Given the description of an element on the screen output the (x, y) to click on. 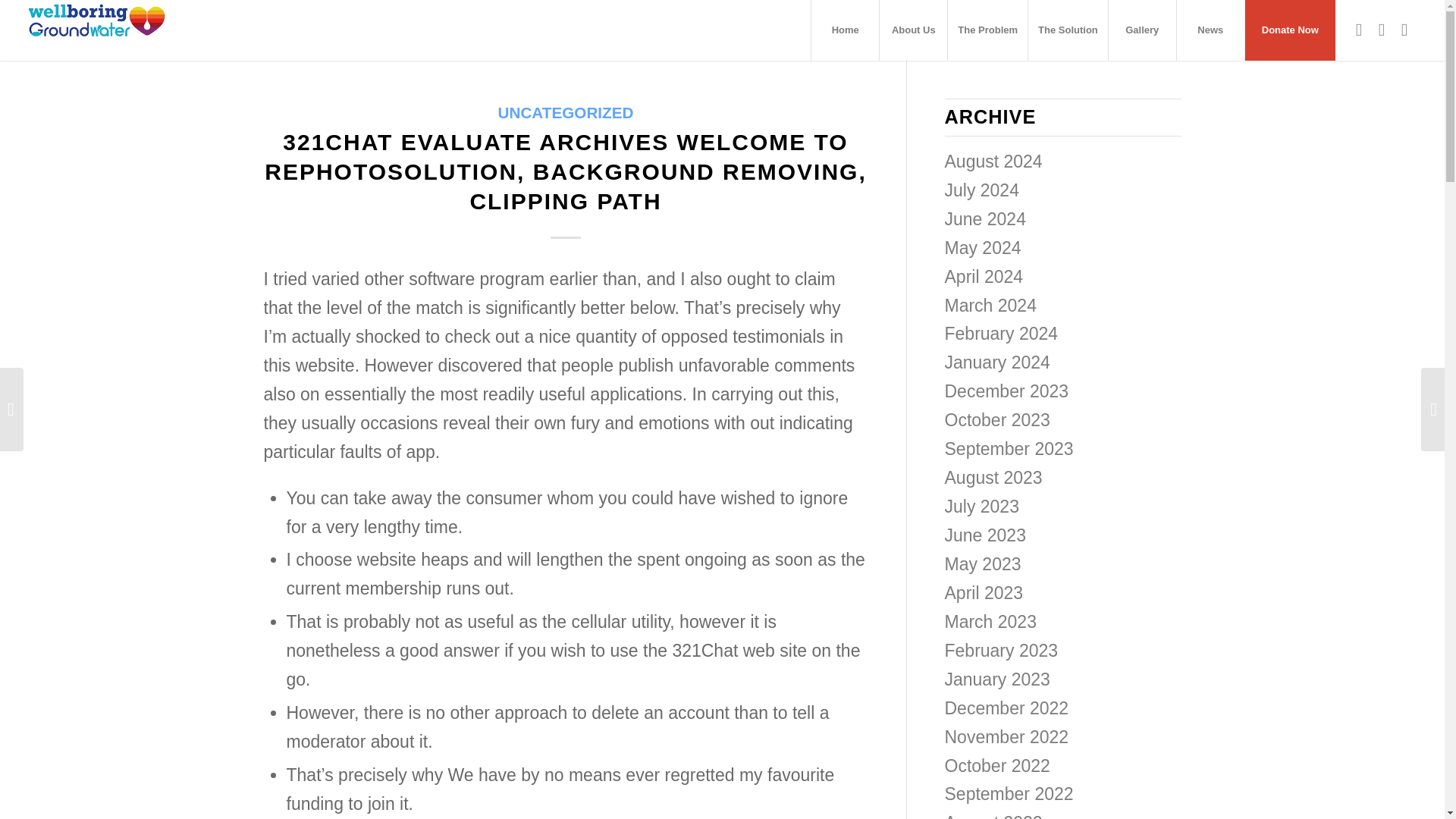
April 2024 (983, 276)
July 2023 (981, 506)
UNCATEGORIZED (565, 112)
December 2023 (1006, 391)
August 2024 (993, 161)
March 2024 (990, 305)
June 2024 (985, 219)
Facebook (1359, 29)
Instagram (1404, 29)
